Given the description of an element on the screen output the (x, y) to click on. 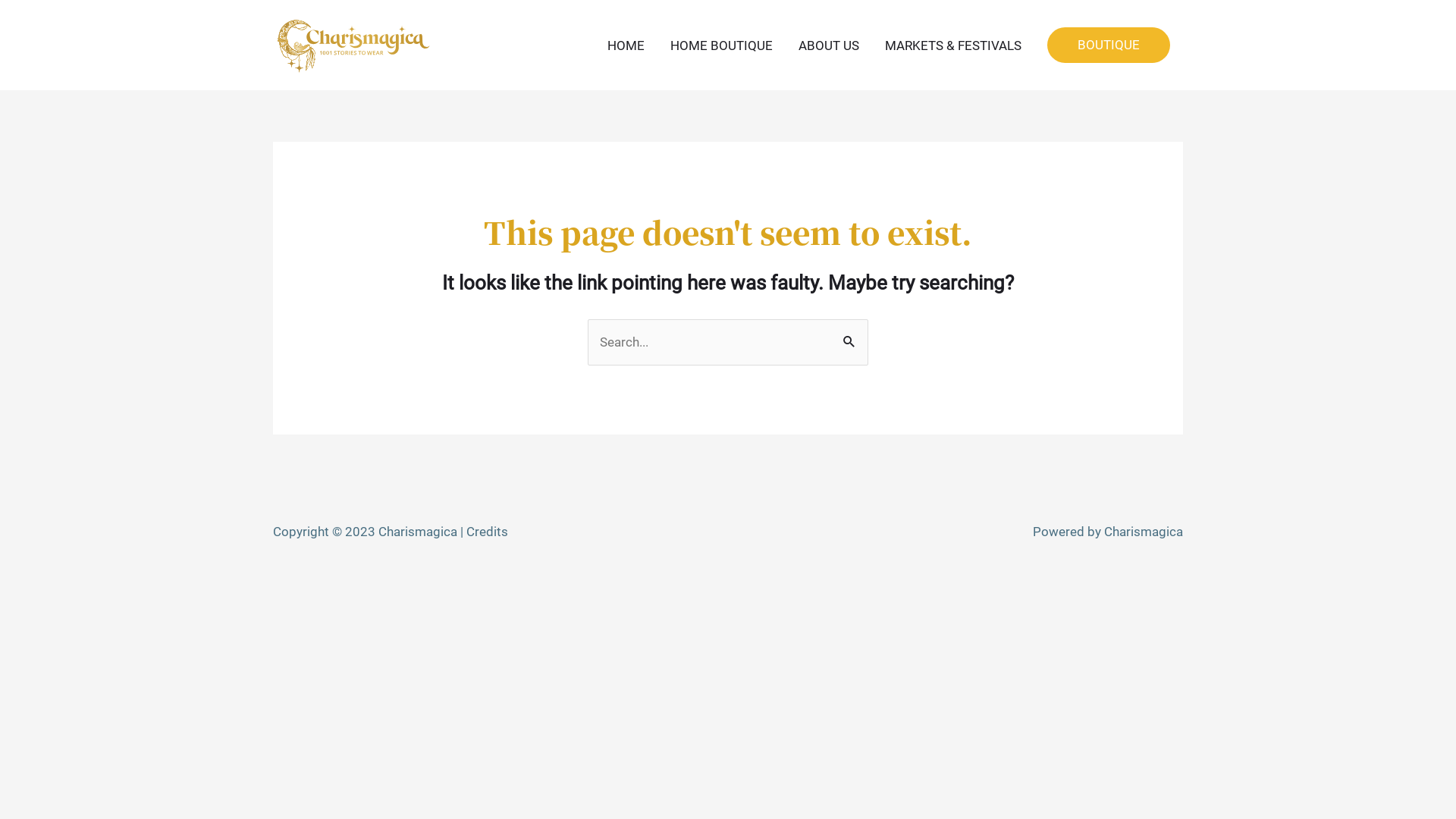
BOUTIQUE Element type: text (1108, 44)
Search Element type: text (851, 341)
Charismagica Element type: text (1143, 531)
HOME Element type: text (625, 45)
ABOUT US Element type: text (828, 45)
MARKETS & FESTIVALS Element type: text (953, 45)
HOME BOUTIQUE Element type: text (721, 45)
Credits Element type: text (487, 531)
